Given the description of an element on the screen output the (x, y) to click on. 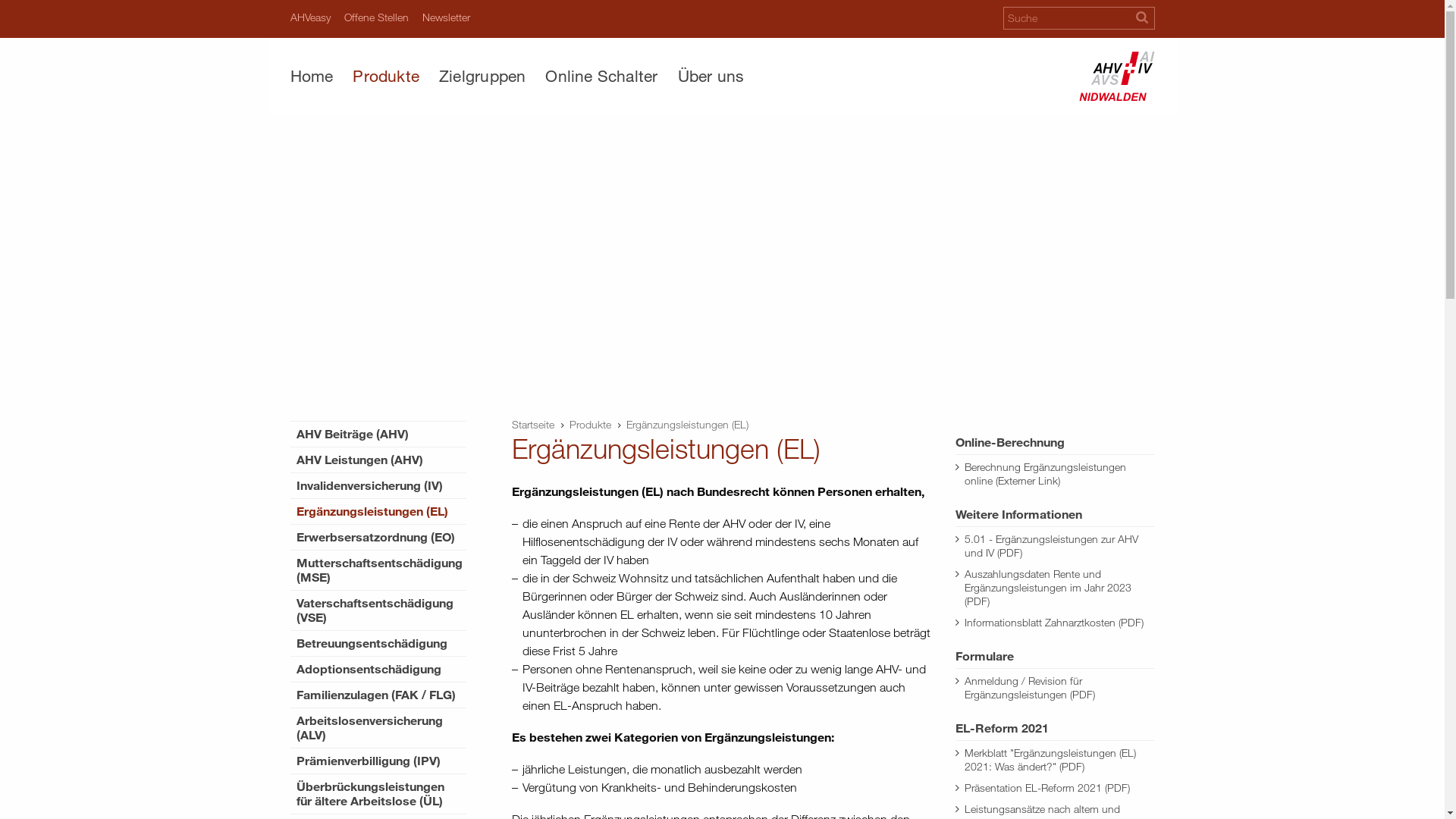
Erwerbsersatzordnung (EO) Element type: text (377, 536)
Home Element type: text (315, 75)
Produkte Element type: text (590, 423)
Arbeitslosenversicherung (ALV) Element type: text (377, 727)
Zielgruppen Element type: text (482, 75)
Invalidenversicherung (IV) Element type: text (377, 485)
Produkte Element type: text (385, 75)
Offene Stellen Element type: text (376, 16)
Familienzulagen (FAK / FLG) Element type: text (377, 694)
Startseite Element type: text (532, 423)
AHV Leistungen (AHV) Element type: text (377, 459)
Informationsblatt Zahnarztkosten (PDF) Element type: text (1054, 622)
Newsletter Element type: text (445, 16)
Online Schalter Element type: text (601, 75)
AHVeasy Element type: text (309, 16)
